Given the description of an element on the screen output the (x, y) to click on. 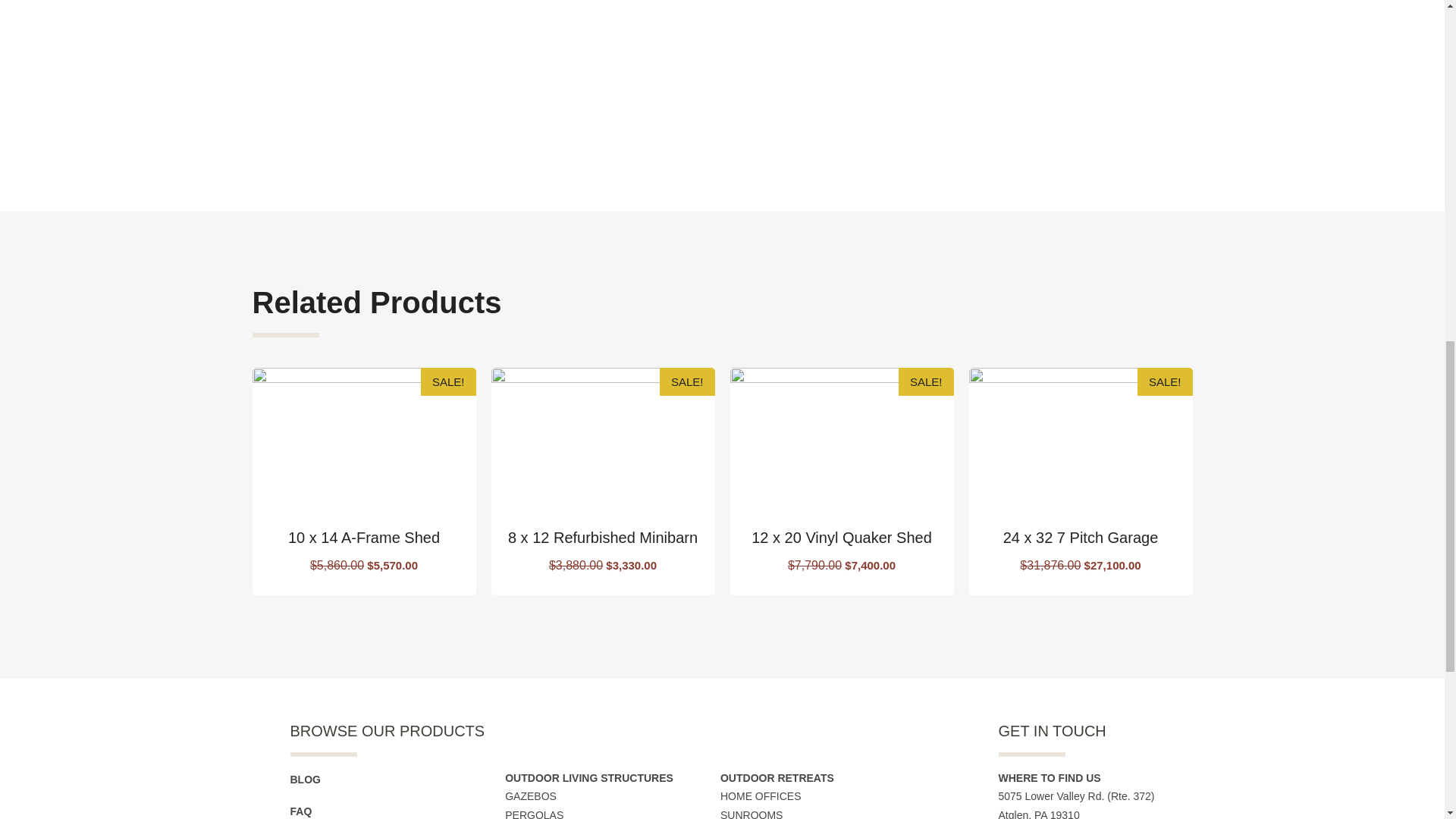
modular garden (303, 67)
modular garden int (413, 67)
